Given the description of an element on the screen output the (x, y) to click on. 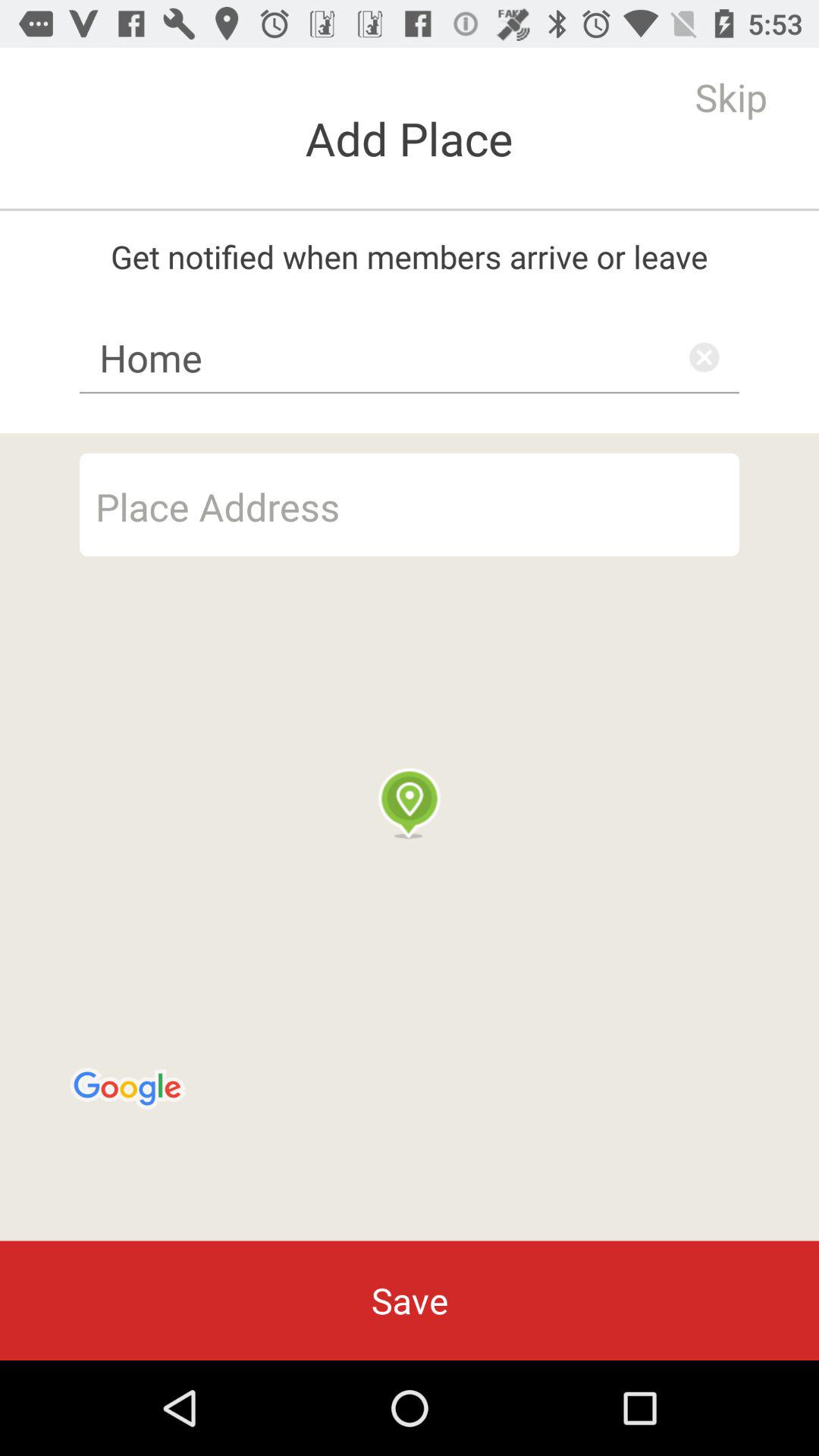
press home item (409, 357)
